Given the description of an element on the screen output the (x, y) to click on. 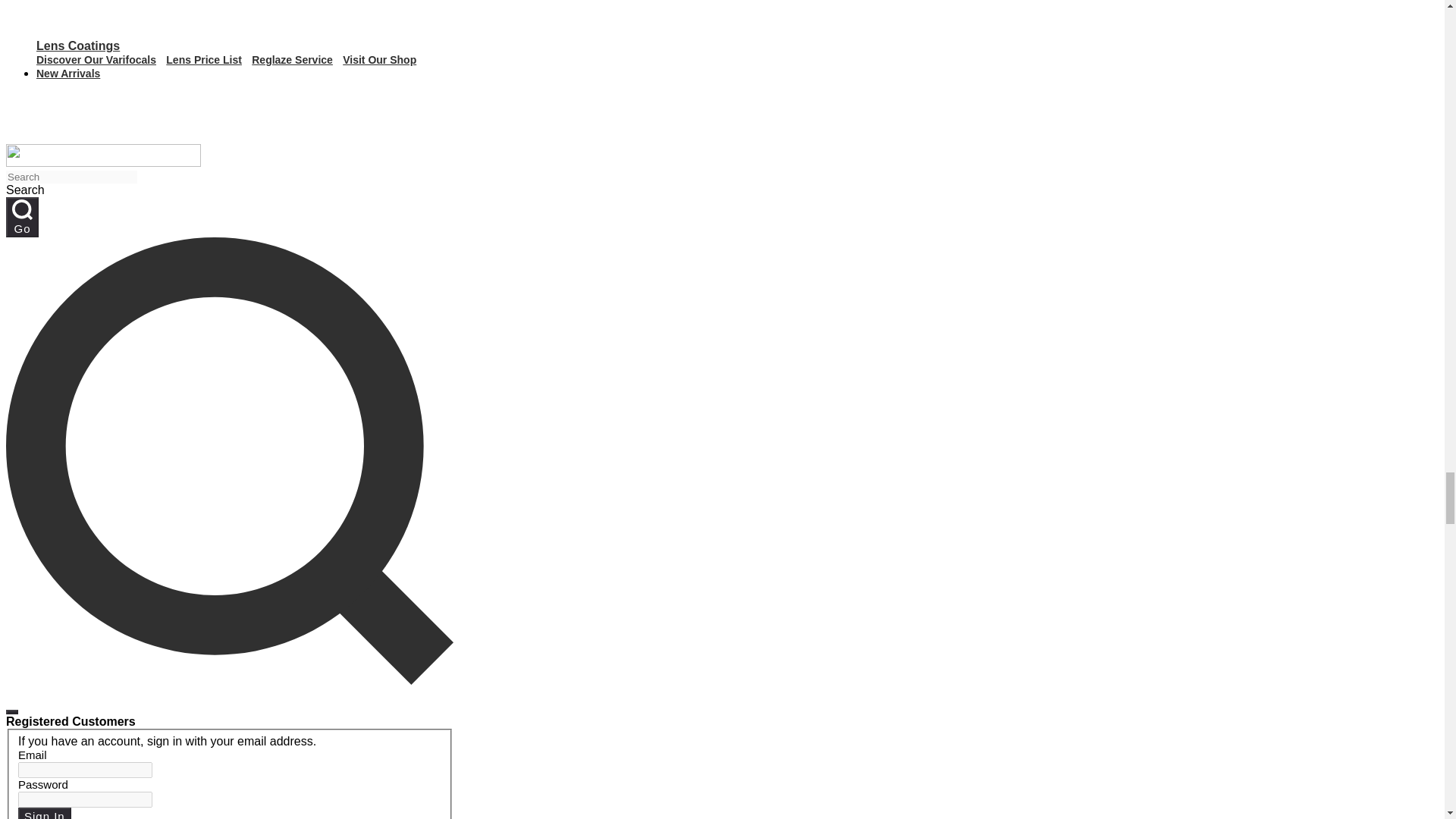
Email (84, 770)
Password (84, 799)
